Given the description of an element on the screen output the (x, y) to click on. 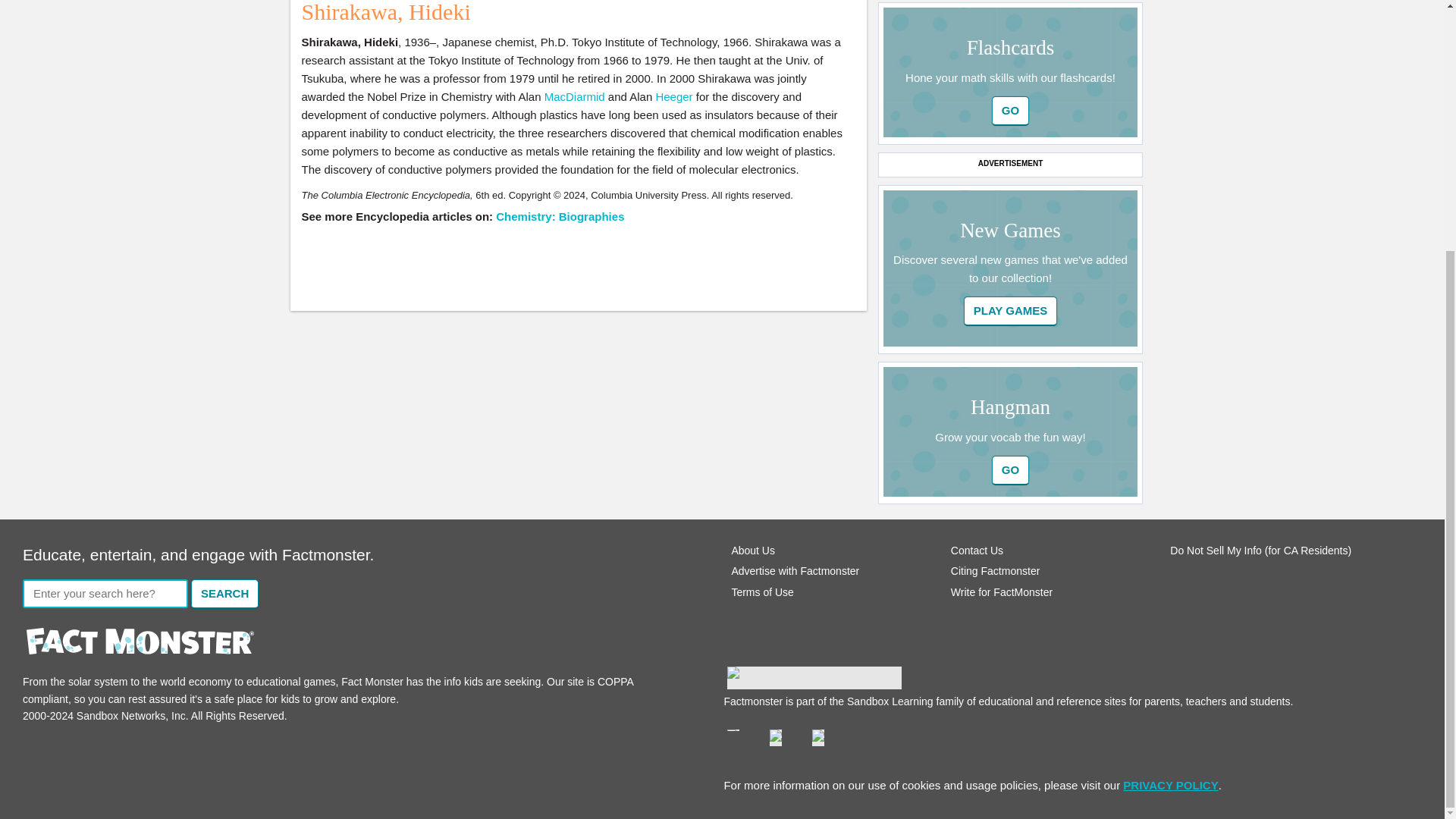
Go (1010, 470)
Go (1010, 470)
About Us (752, 550)
Play Games (1010, 310)
Search (224, 594)
Go (1010, 310)
Go (1010, 111)
Go (1010, 111)
